Given the description of an element on the screen output the (x, y) to click on. 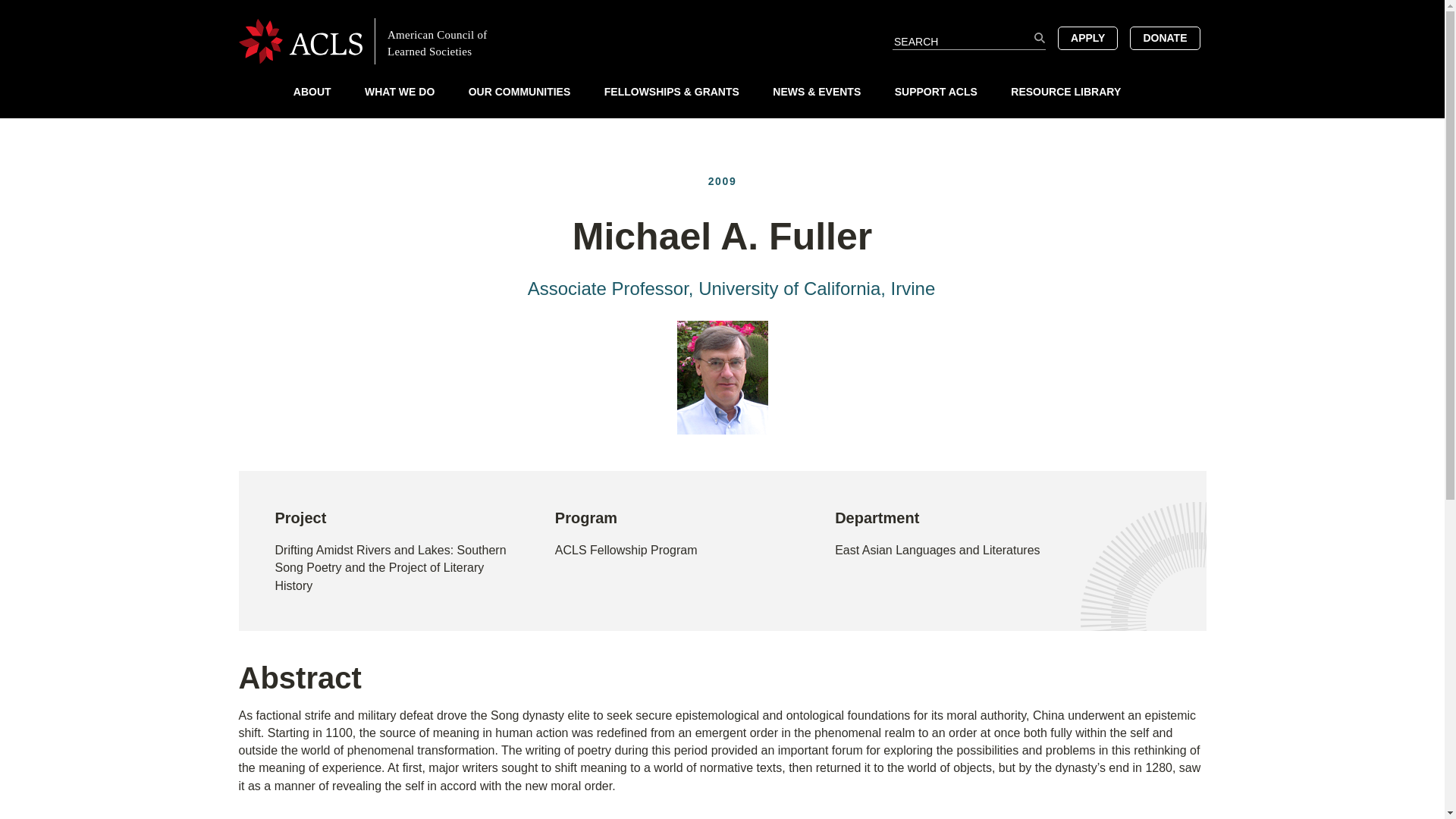
Skip to main content (721, 6)
Home (374, 40)
DONATE (1164, 37)
APPLY (1088, 37)
SEARCH (1039, 38)
